Given the description of an element on the screen output the (x, y) to click on. 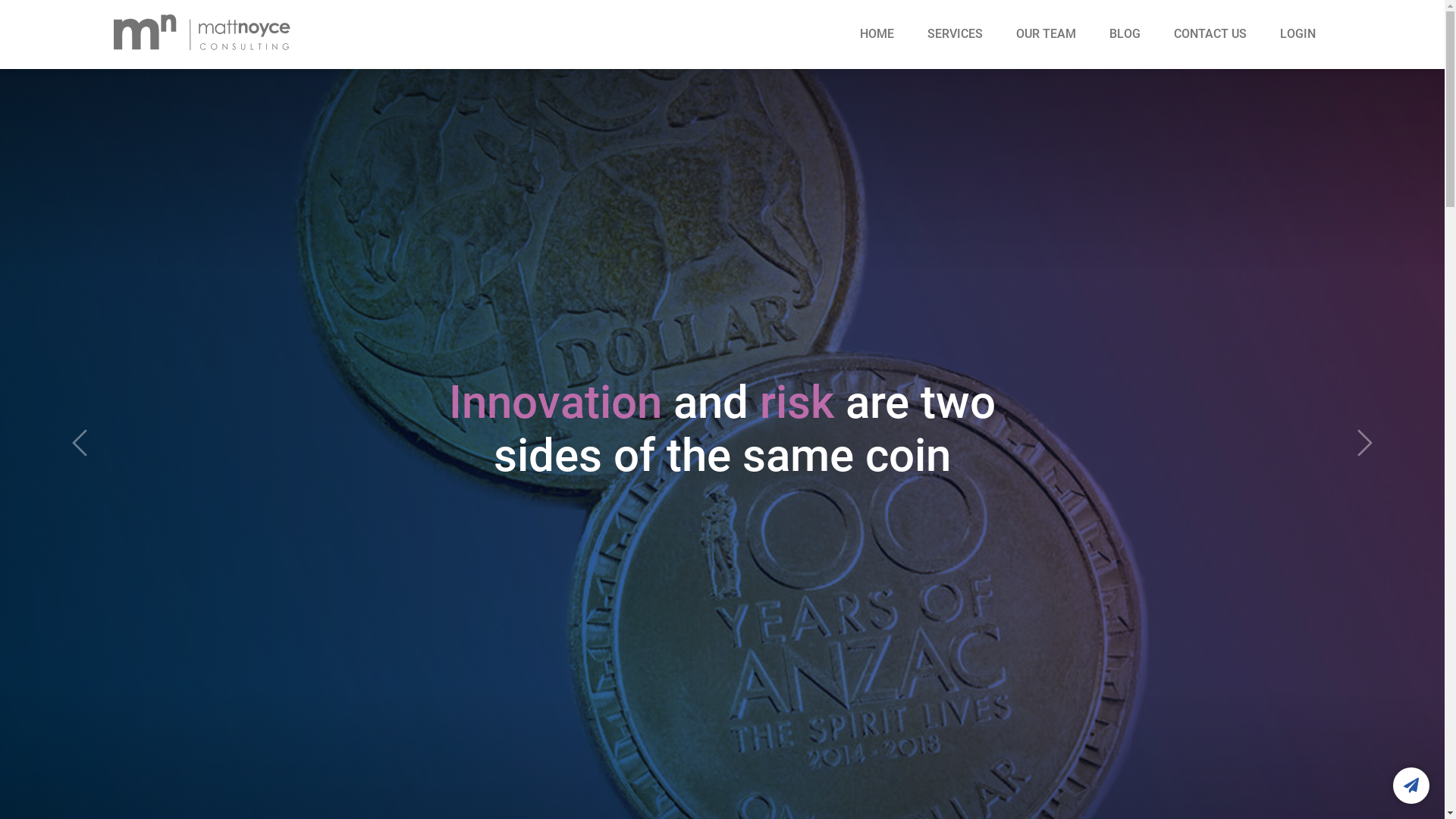
LOGIN Element type: text (1297, 33)
OUR TEAM Element type: text (1047, 33)
CONTACT US Element type: text (1211, 33)
SERVICES Element type: text (956, 33)
HOME Element type: text (878, 33)
BLOG Element type: text (1126, 33)
